Given the description of an element on the screen output the (x, y) to click on. 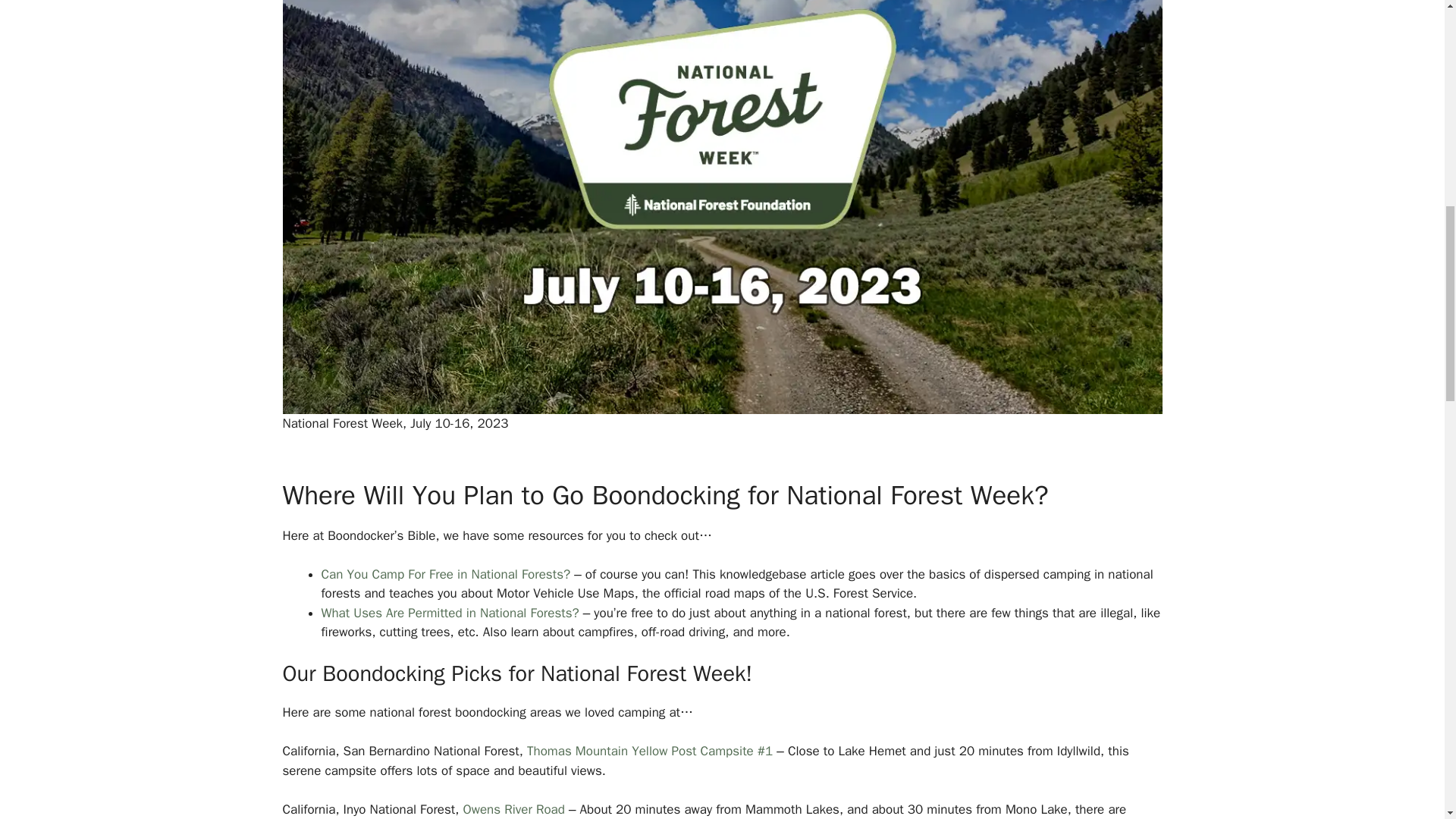
Owens River Road (513, 809)
What Uses Are Permitted in National Forests? (450, 612)
Can You Camp For Free in National Forests? (445, 574)
